Given the description of an element on the screen output the (x, y) to click on. 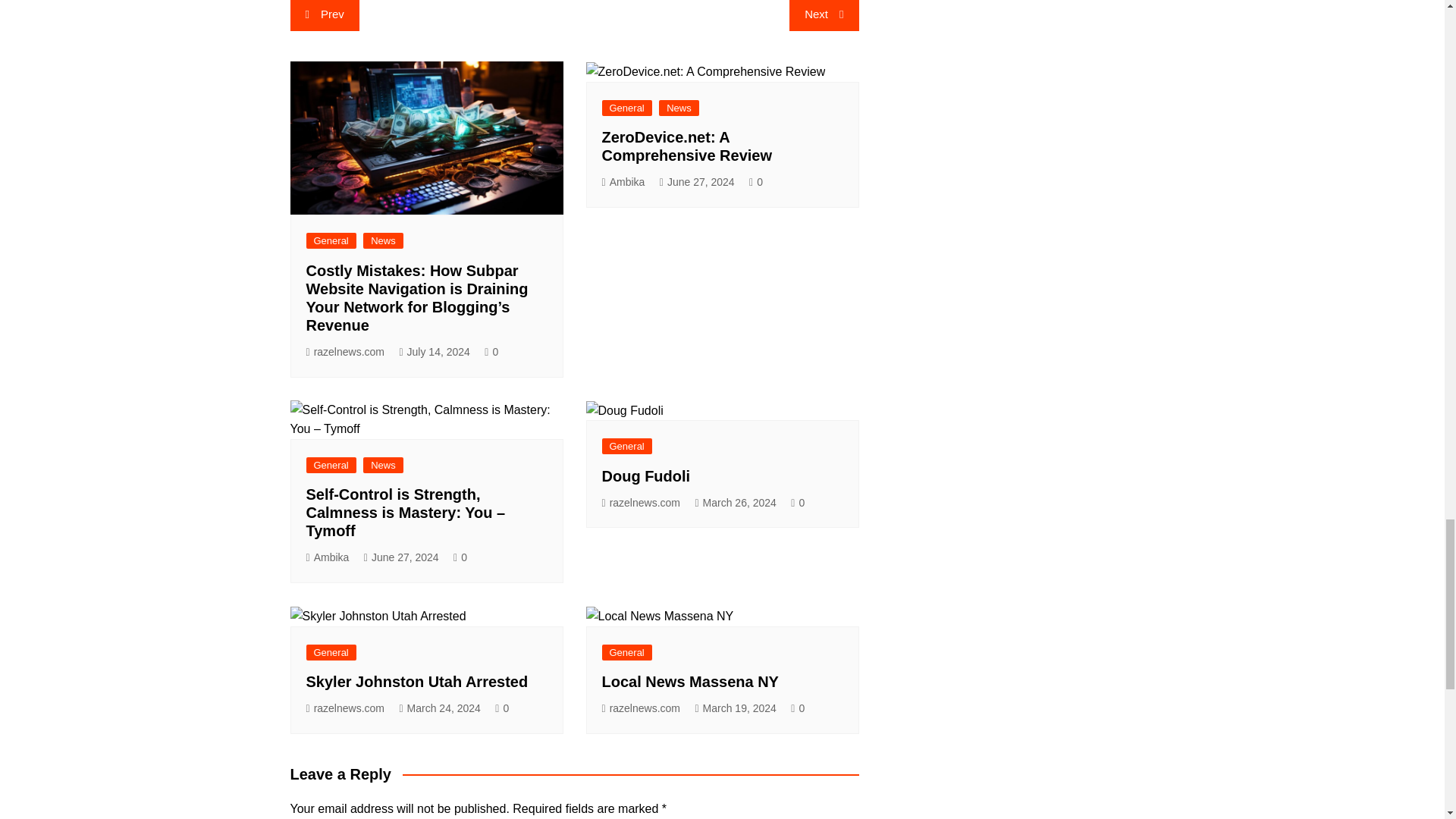
General (330, 465)
ZeroDevice.net: A Comprehensive Review (687, 145)
General (330, 240)
0 (490, 352)
General (627, 107)
News (678, 107)
razelnews.com (345, 352)
News (382, 240)
June 27, 2024 (697, 181)
Ambika (623, 181)
Next (824, 15)
News (382, 465)
Prev (323, 15)
July 14, 2024 (433, 352)
0 (755, 181)
